Given the description of an element on the screen output the (x, y) to click on. 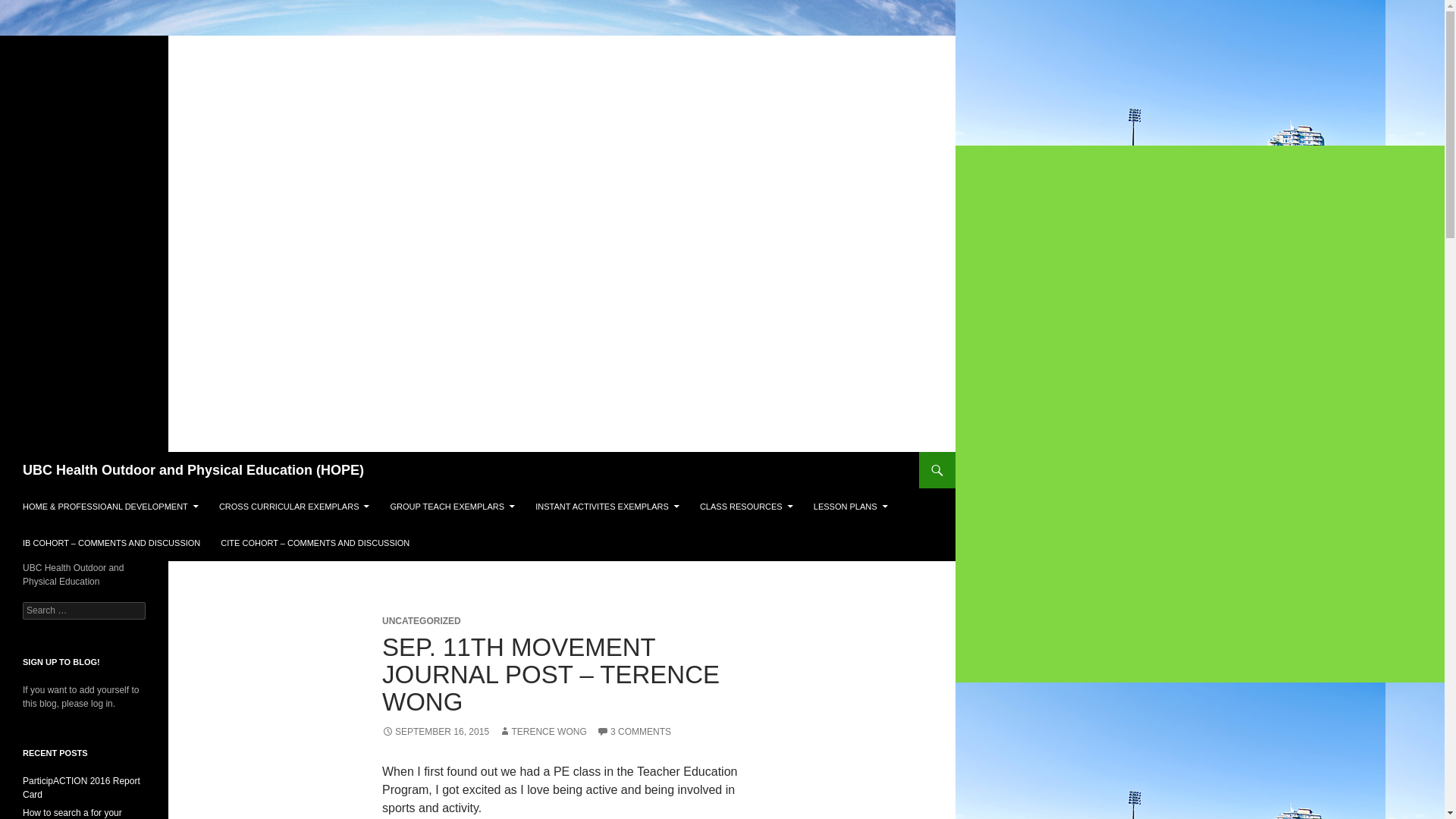
CROSS CURRICULAR EXEMPLARS (293, 506)
GROUP TEACH EXEMPLARS (452, 506)
LESSON PLANS (850, 506)
TERENCE WONG (542, 731)
INSTANT ACTIVITES EXEMPLARS (606, 506)
CLASS RESOURCES (746, 506)
3 COMMENTS (633, 731)
SEPTEMBER 16, 2015 (435, 731)
